Given the description of an element on the screen output the (x, y) to click on. 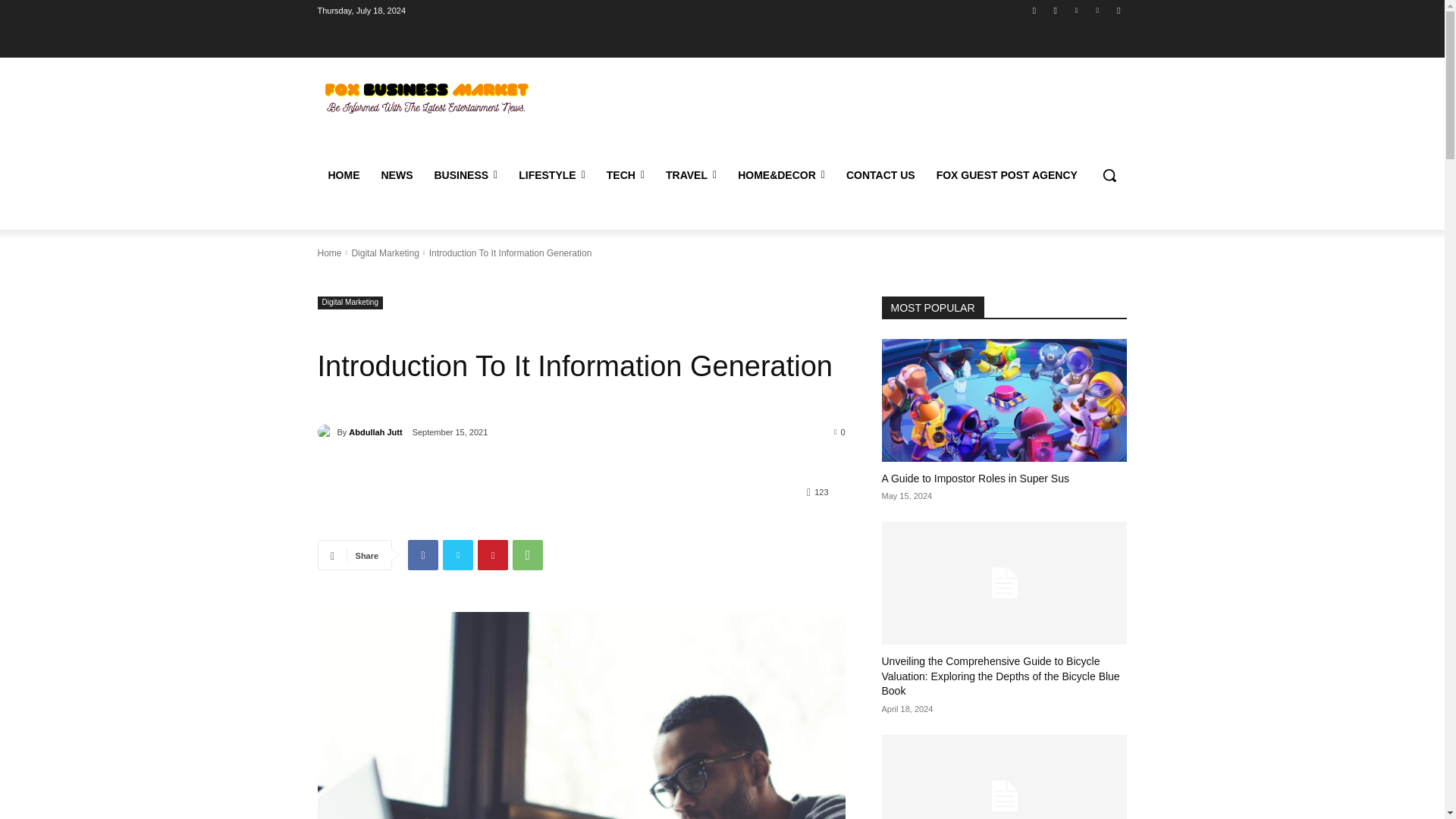
LIFESTYLE (551, 175)
HOME (343, 175)
Home (328, 253)
CONTACT US (880, 175)
NEWS (396, 175)
FOX GUEST POST AGENCY (1006, 175)
Youtube (1117, 9)
Facebook (1034, 9)
TECH (625, 175)
TRAVEL (690, 175)
Vimeo (1097, 9)
Instagram (1055, 9)
Facebook (422, 554)
Twitter (1075, 9)
Abdullah Jutt (326, 432)
